Given the description of an element on the screen output the (x, y) to click on. 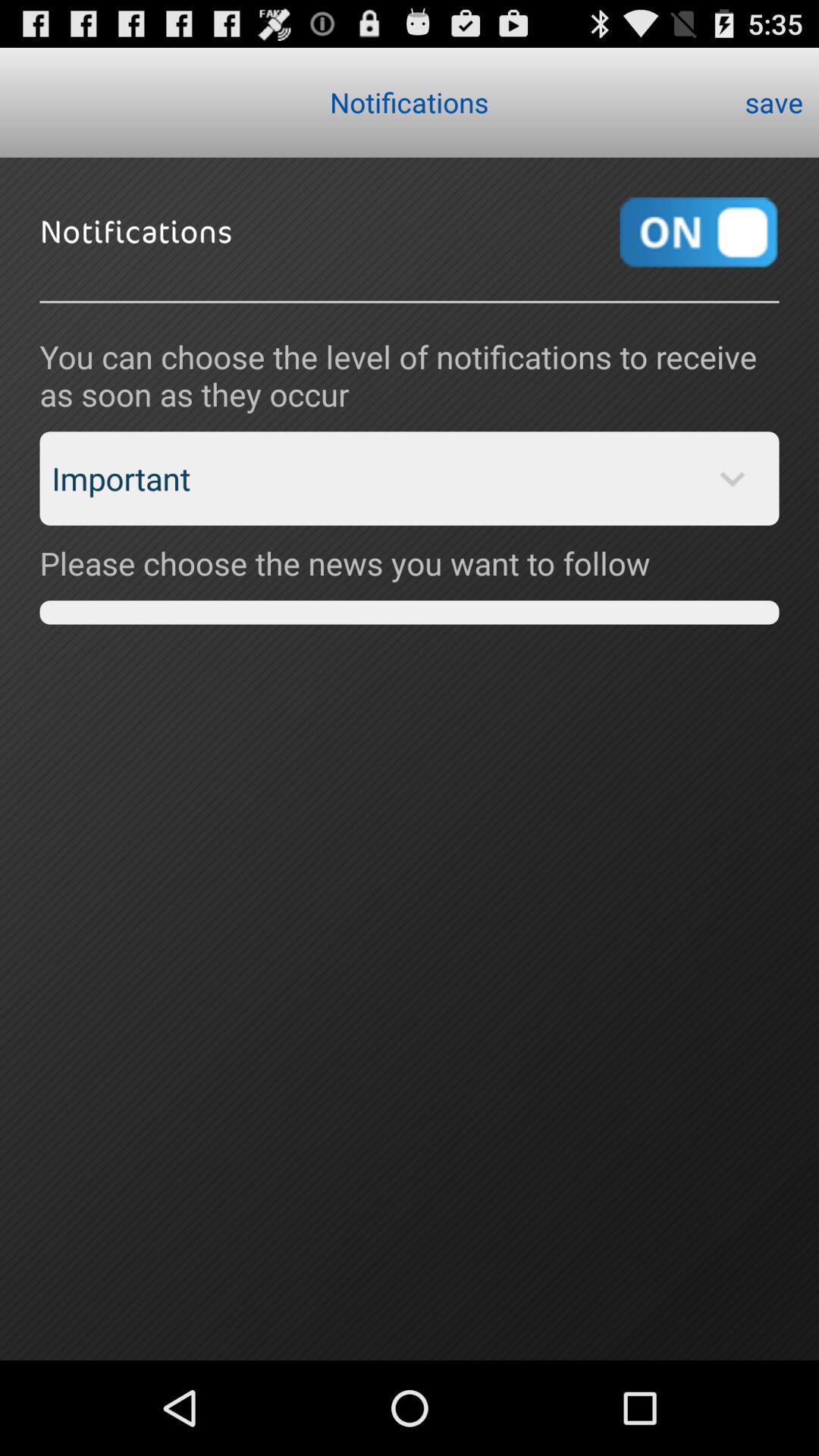
scroll until save item (774, 102)
